Given the description of an element on the screen output the (x, y) to click on. 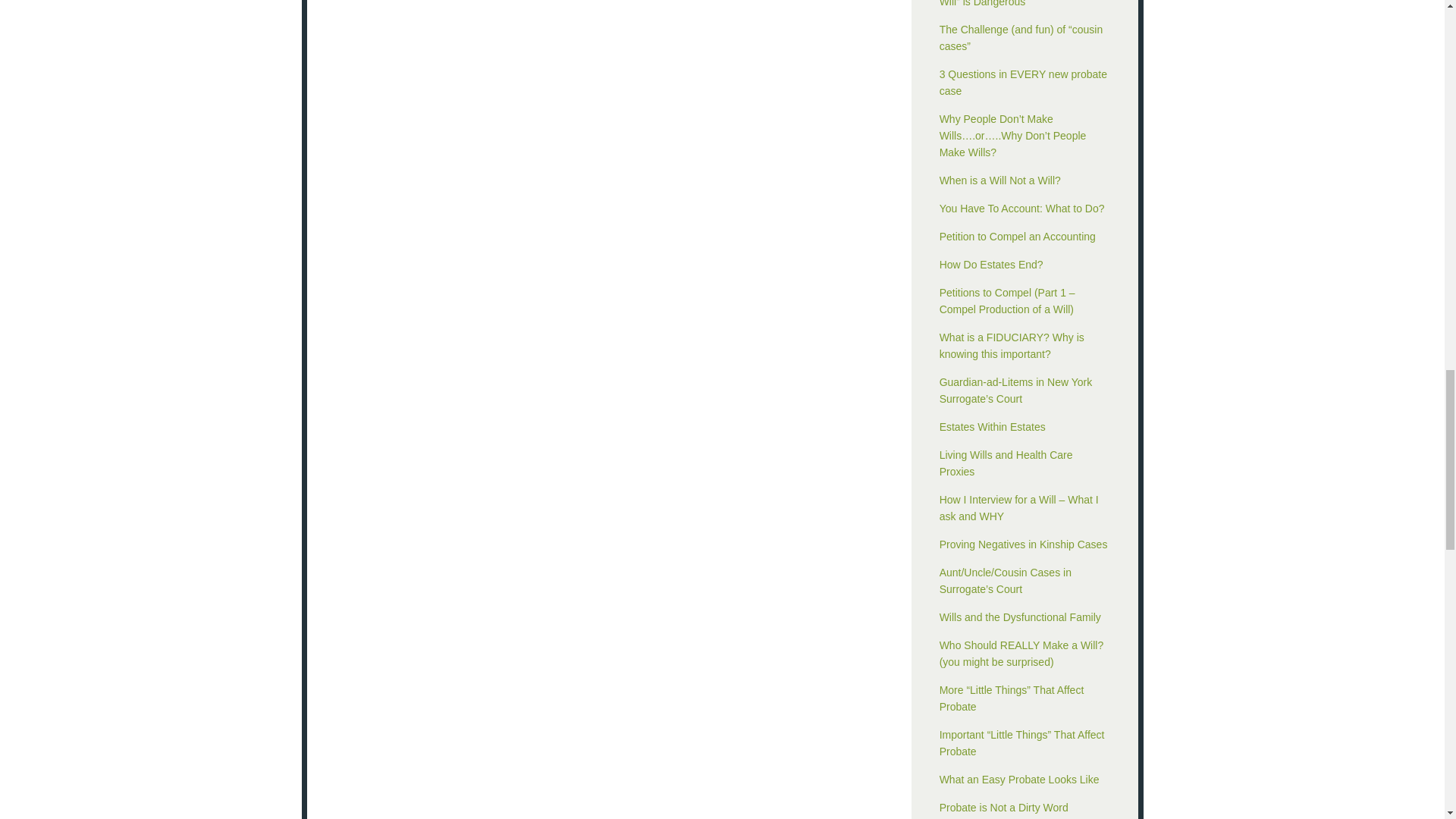
How Do Estates End? (991, 264)
When is a Will Not a Will? (1000, 180)
3 Questions in EVERY new probate case (1022, 82)
You Have To Account: What to Do? (1022, 208)
Petition to Compel an Accounting (1017, 236)
